Given the description of an element on the screen output the (x, y) to click on. 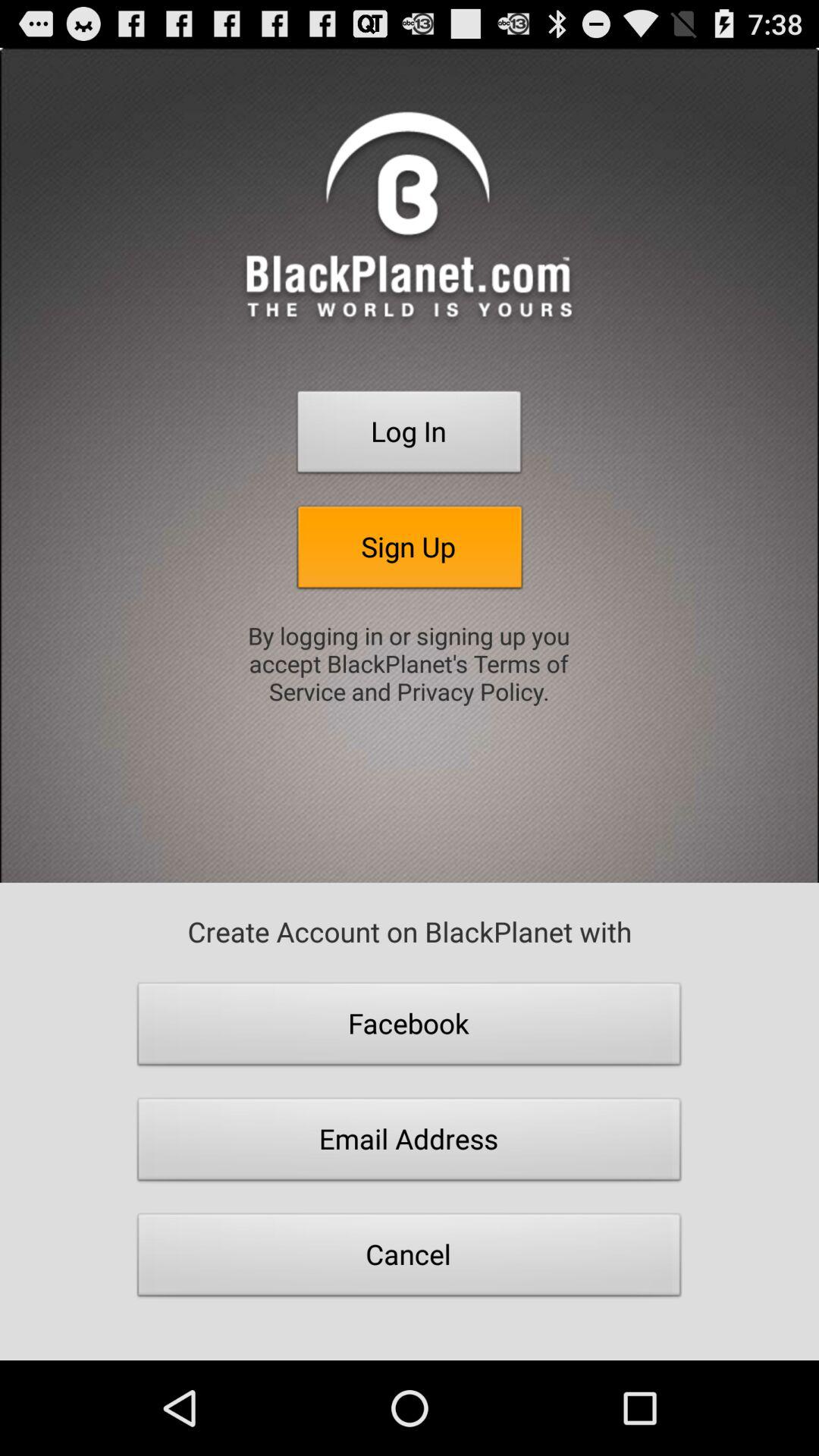
turn off the facebook icon (409, 1028)
